Given the description of an element on the screen output the (x, y) to click on. 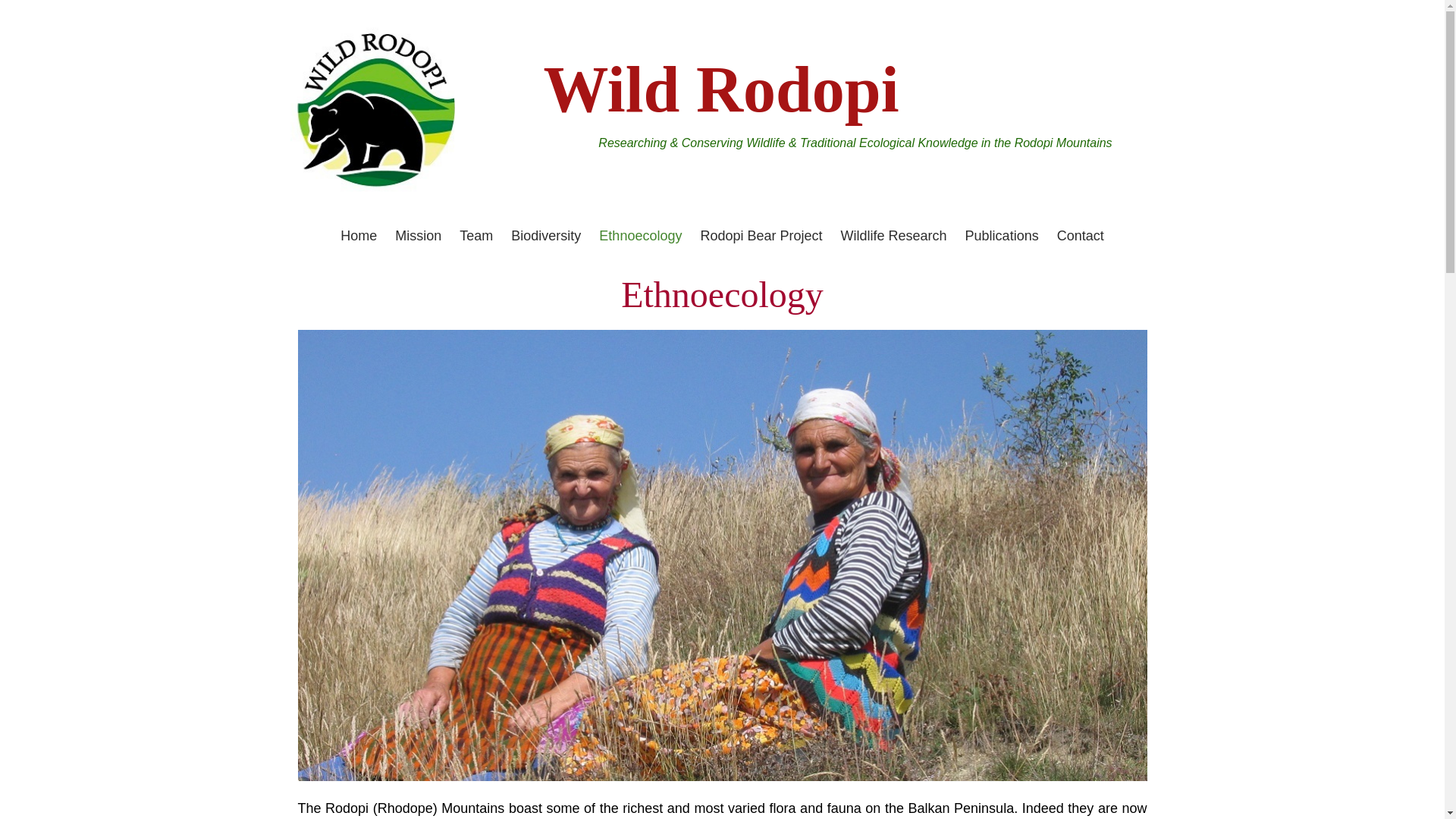
Team (476, 235)
Biodiversity (545, 235)
Contact (1080, 235)
Publications (1002, 235)
Ethnoecology (639, 235)
Home (358, 235)
Mission (417, 235)
Rodopi Bear Project (761, 235)
Wildlife Research (894, 235)
